Given the description of an element on the screen output the (x, y) to click on. 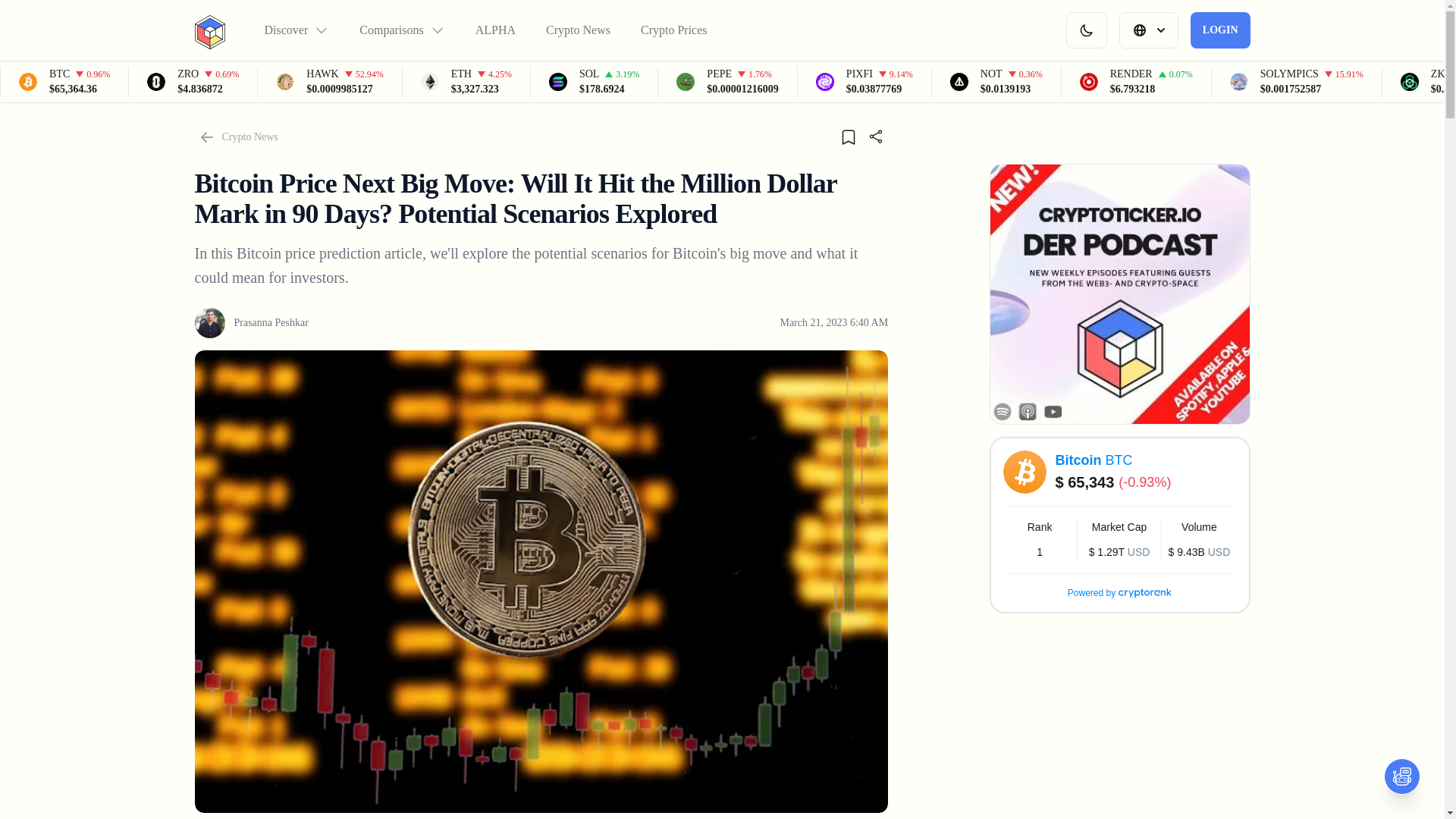
Open CryptoGlossy (1402, 776)
Crypto Prices (673, 30)
Crypto News (578, 30)
CryptoTicker (208, 29)
Save (847, 137)
ALPHA (495, 30)
Discover (296, 30)
LOGIN (1220, 30)
Switch to Dark Theme (1085, 30)
Comparisons (401, 30)
